Given the description of an element on the screen output the (x, y) to click on. 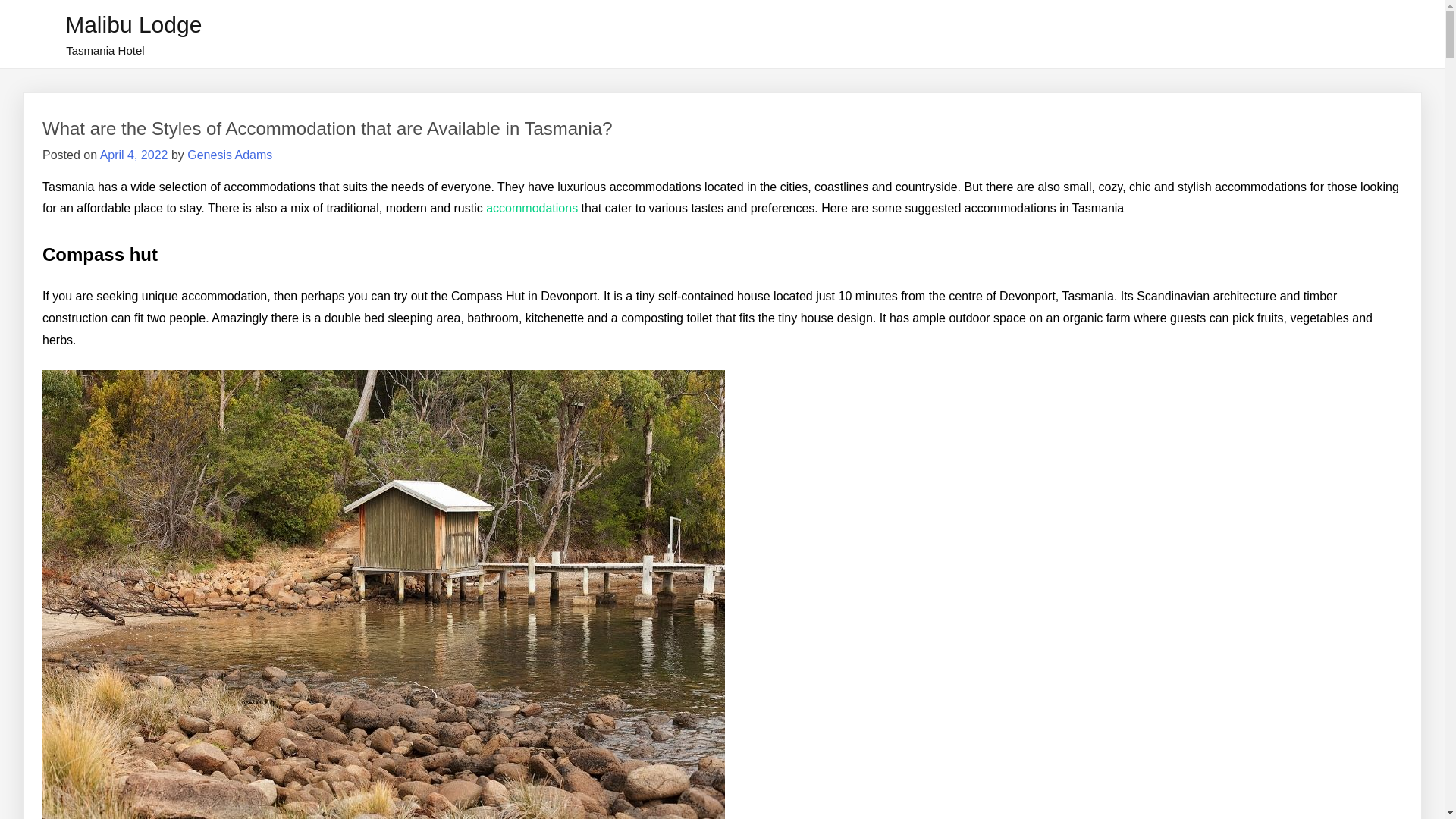
April 4, 2022 Element type: text (134, 154)
Malibu Lodge Element type: text (133, 24)
accommodations Element type: text (531, 207)
Genesis Adams Element type: text (229, 154)
